Given the description of an element on the screen output the (x, y) to click on. 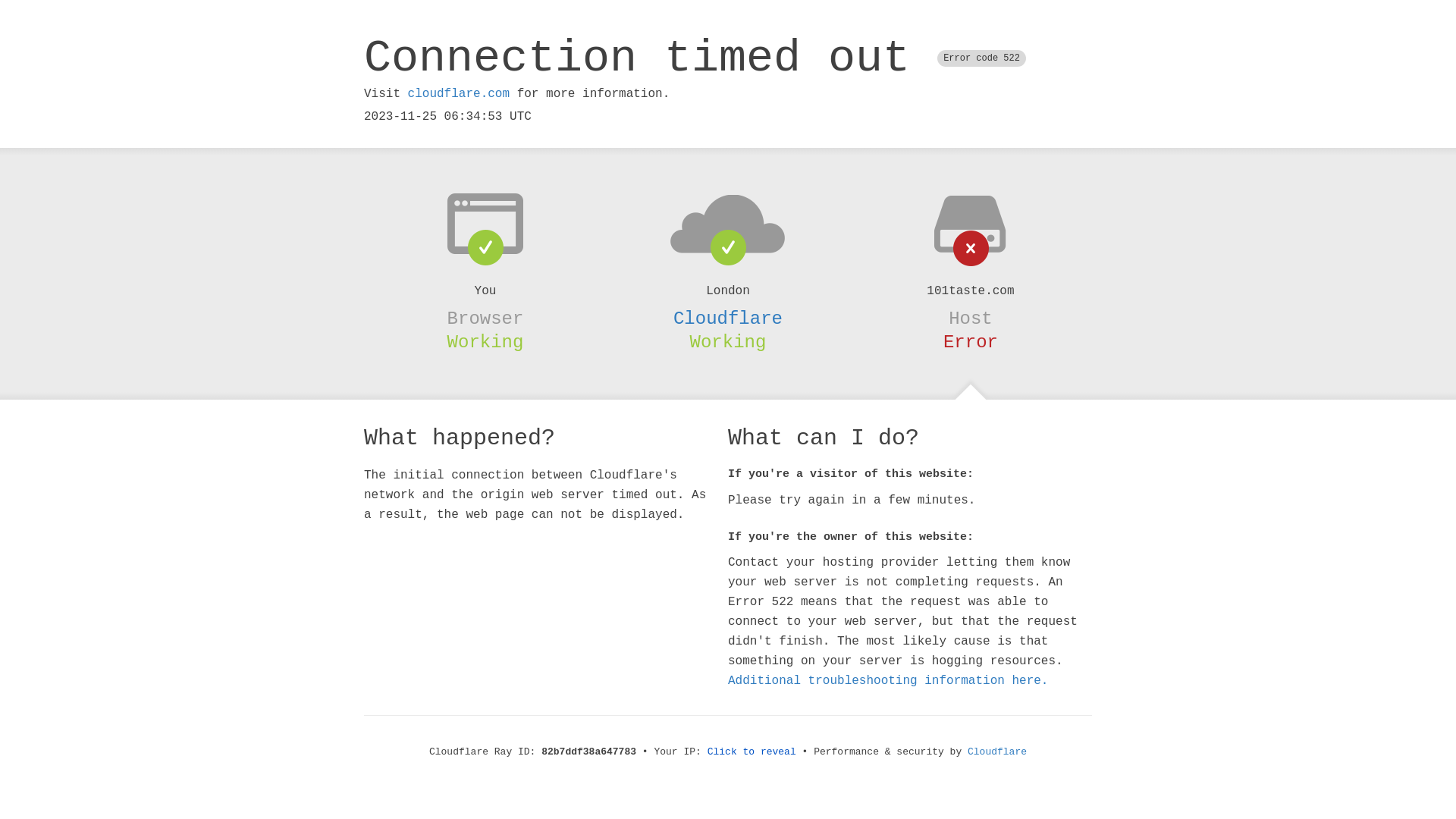
cloudflare.com Element type: text (458, 93)
Click to reveal Element type: text (751, 751)
Cloudflare Element type: text (727, 318)
Additional troubleshooting information here. Element type: text (888, 680)
Cloudflare Element type: text (996, 751)
